Given the description of an element on the screen output the (x, y) to click on. 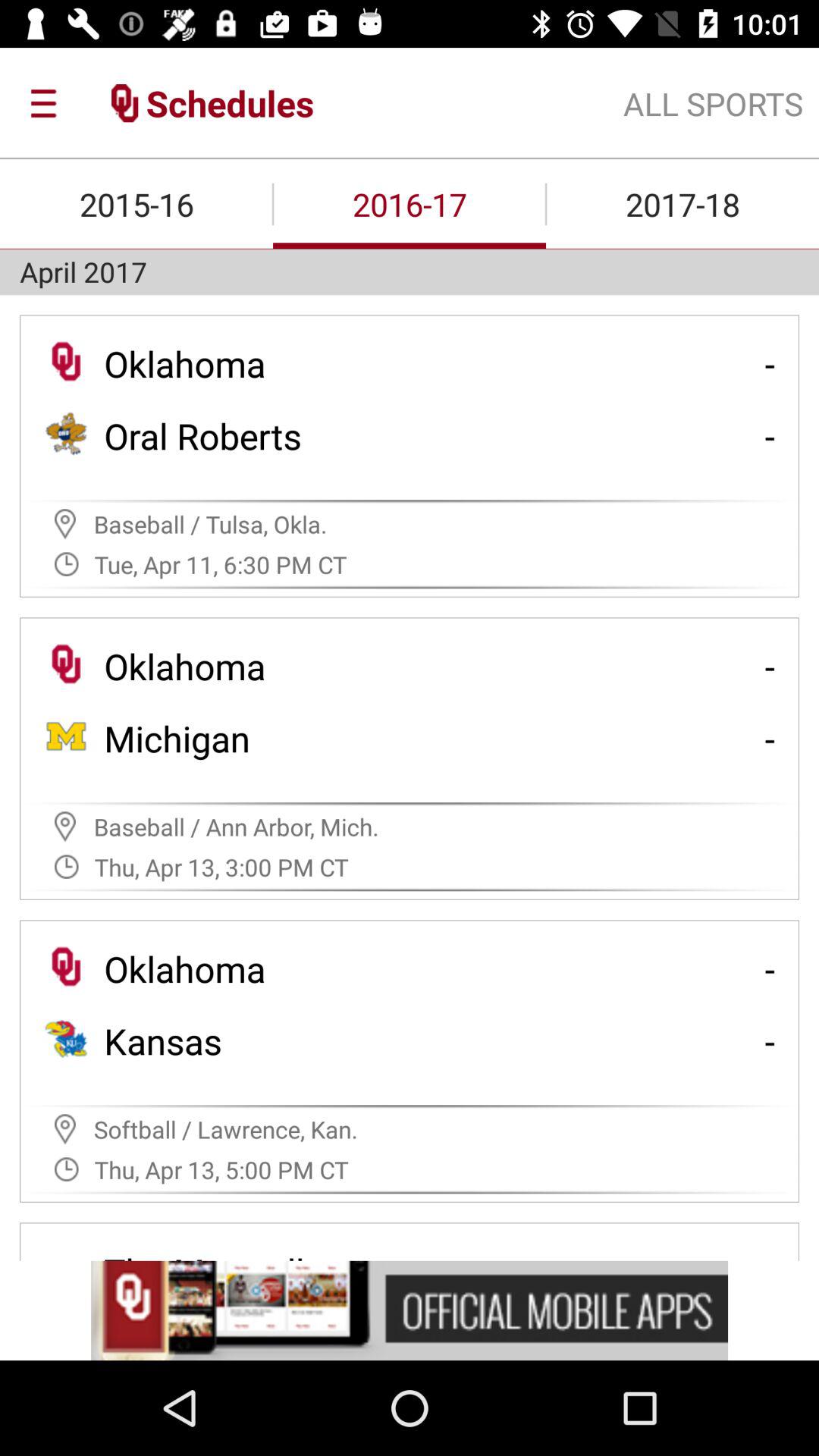
adverisment (409, 1310)
